Given the description of an element on the screen output the (x, y) to click on. 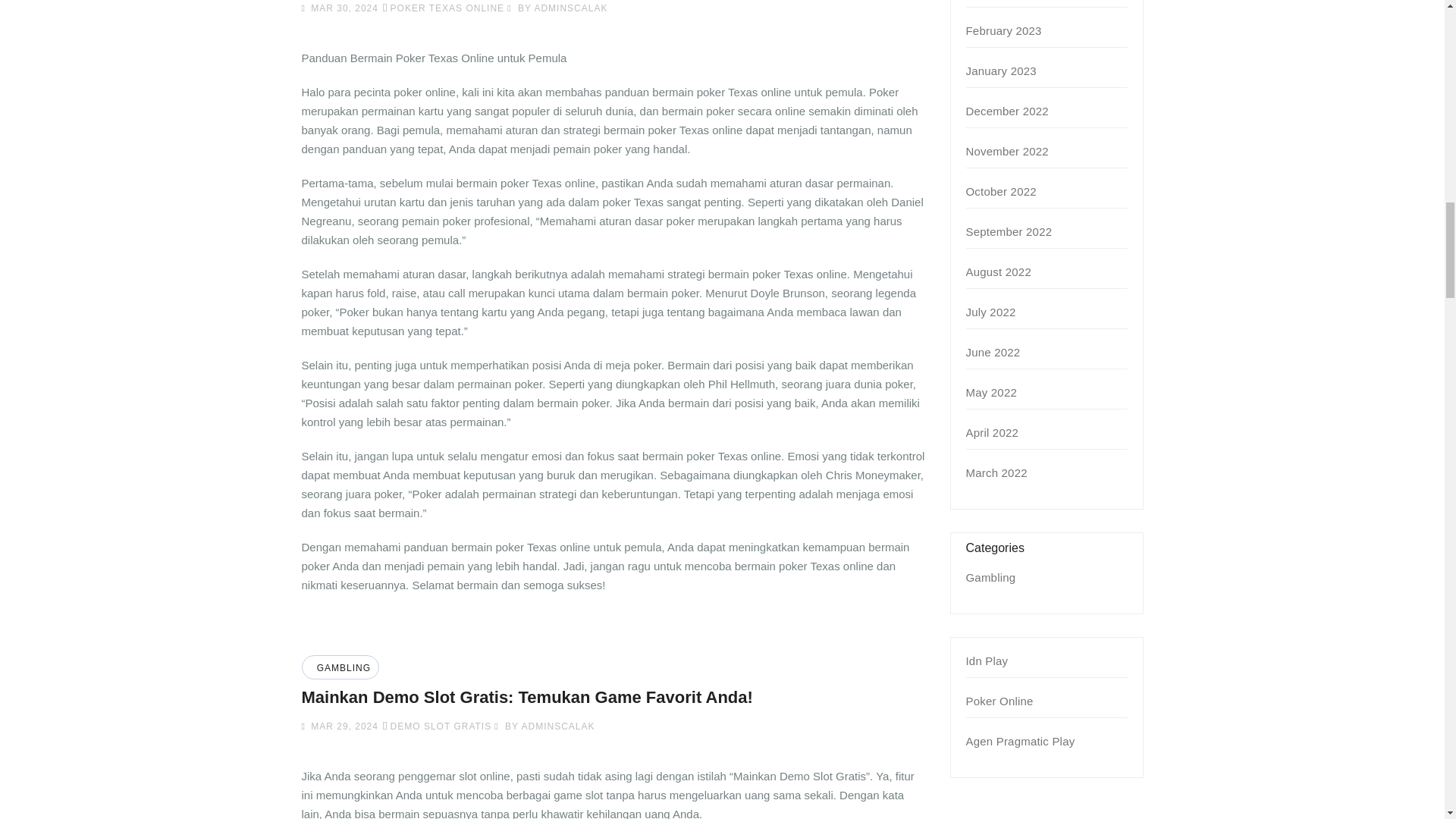
Mainkan Demo Slot Gratis: Temukan Game Favorit Anda! (526, 696)
DEMO SLOT GRATIS (441, 726)
MAR 30, 2024 (342, 8)
MAR 29, 2024 (342, 726)
GAMBLING (342, 667)
POKER TEXAS ONLINE (447, 8)
BY ADMINSCALAK (544, 726)
BY ADMINSCALAK (556, 8)
